Given the description of an element on the screen output the (x, y) to click on. 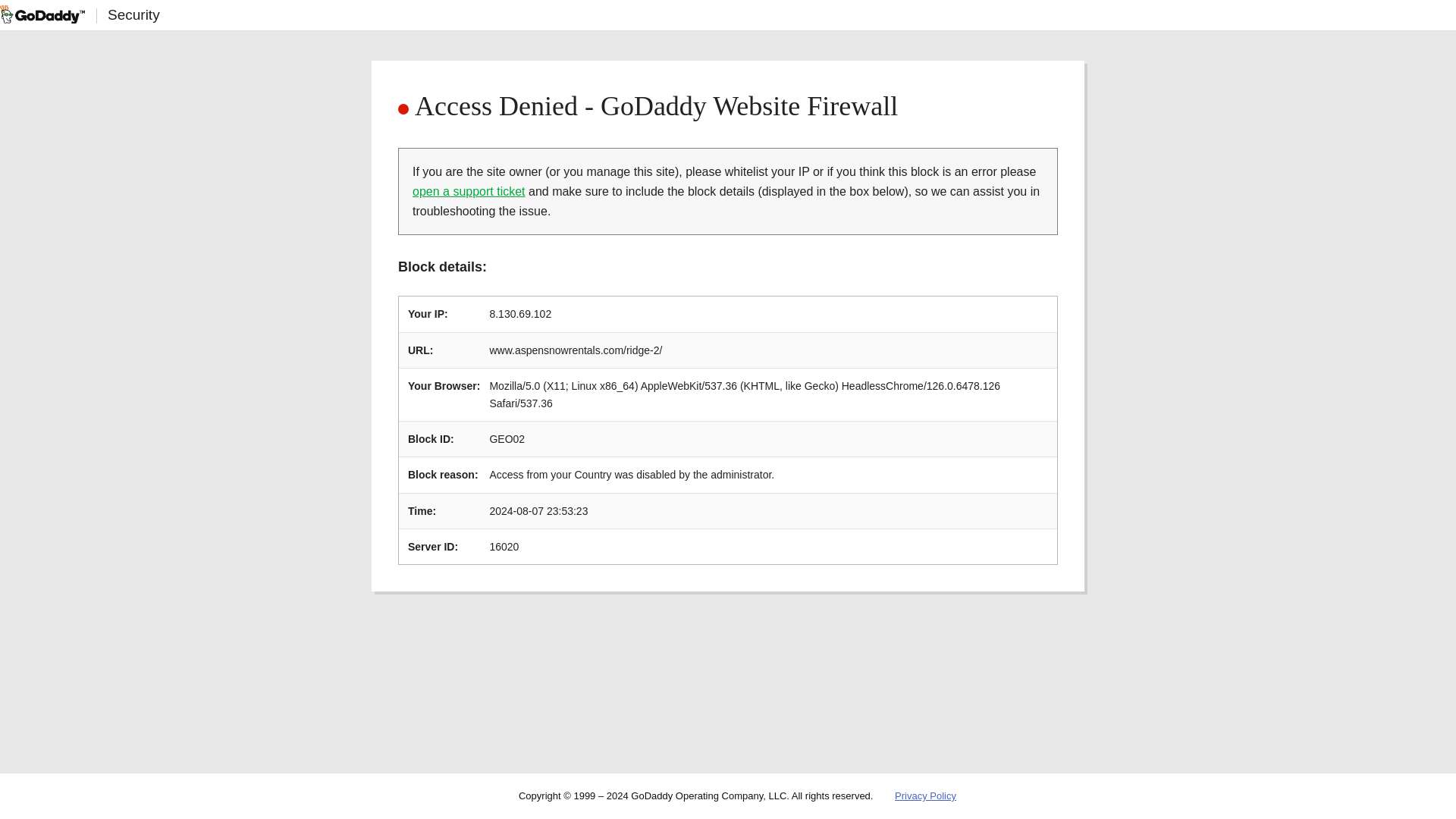
open a support ticket (468, 191)
Privacy Policy (925, 795)
